Given the description of an element on the screen output the (x, y) to click on. 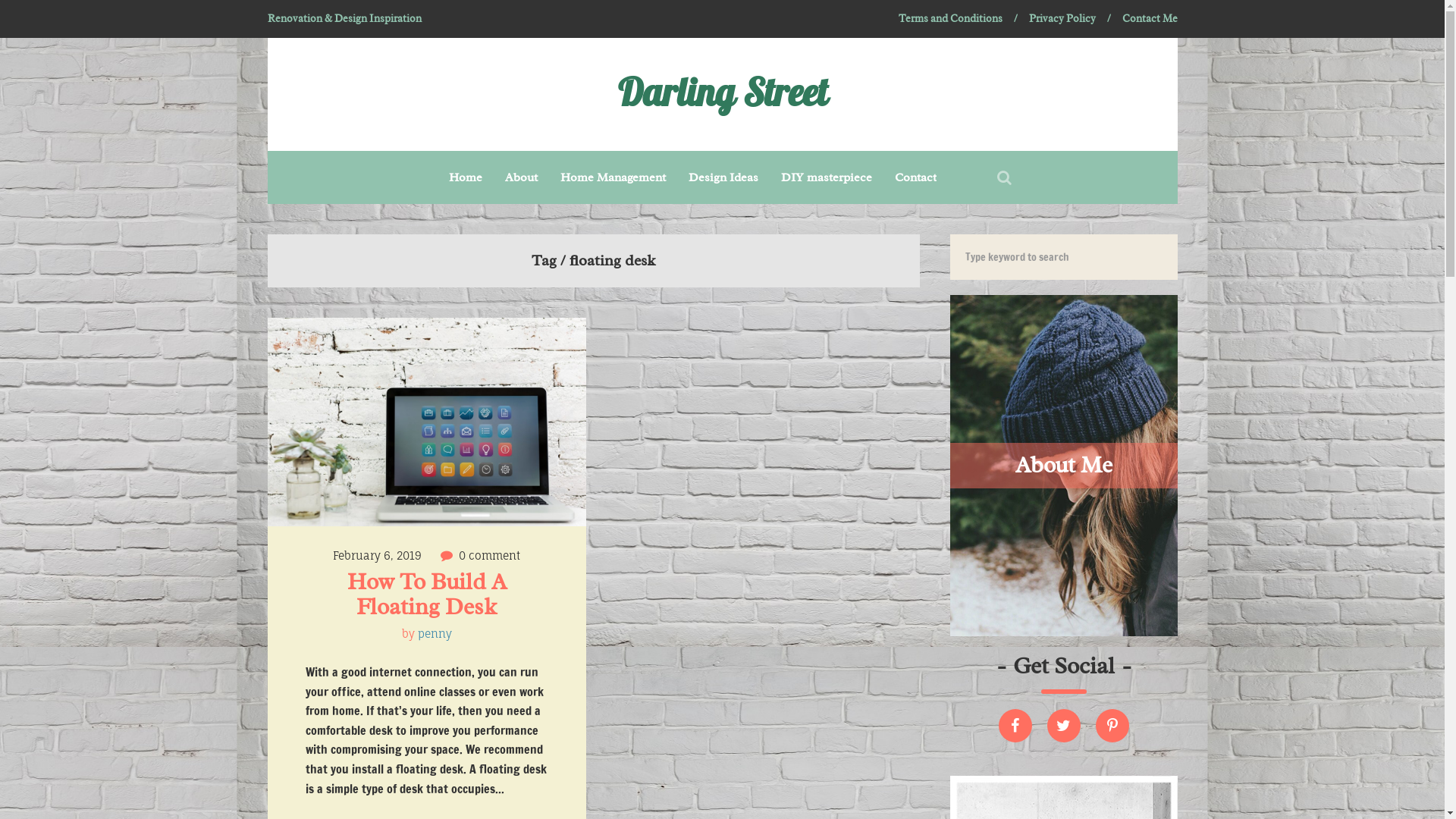
Darling Street Element type: text (721, 94)
Contact Me Element type: text (1149, 18)
February 6, 2019 Element type: text (376, 555)
Design Ideas Element type: text (723, 177)
penny Element type: text (434, 633)
About Me Element type: text (1062, 465)
DIY masterpiece Element type: text (826, 177)
Privacy Policy Element type: text (1061, 18)
How To Build A Floating Desk Element type: text (429, 594)
Terms and Conditions Element type: text (949, 18)
Home Management Element type: text (612, 177)
Home Element type: text (465, 177)
Contact Element type: text (915, 177)
0 comment Element type: text (489, 555)
About Element type: text (521, 177)
